Given the description of an element on the screen output the (x, y) to click on. 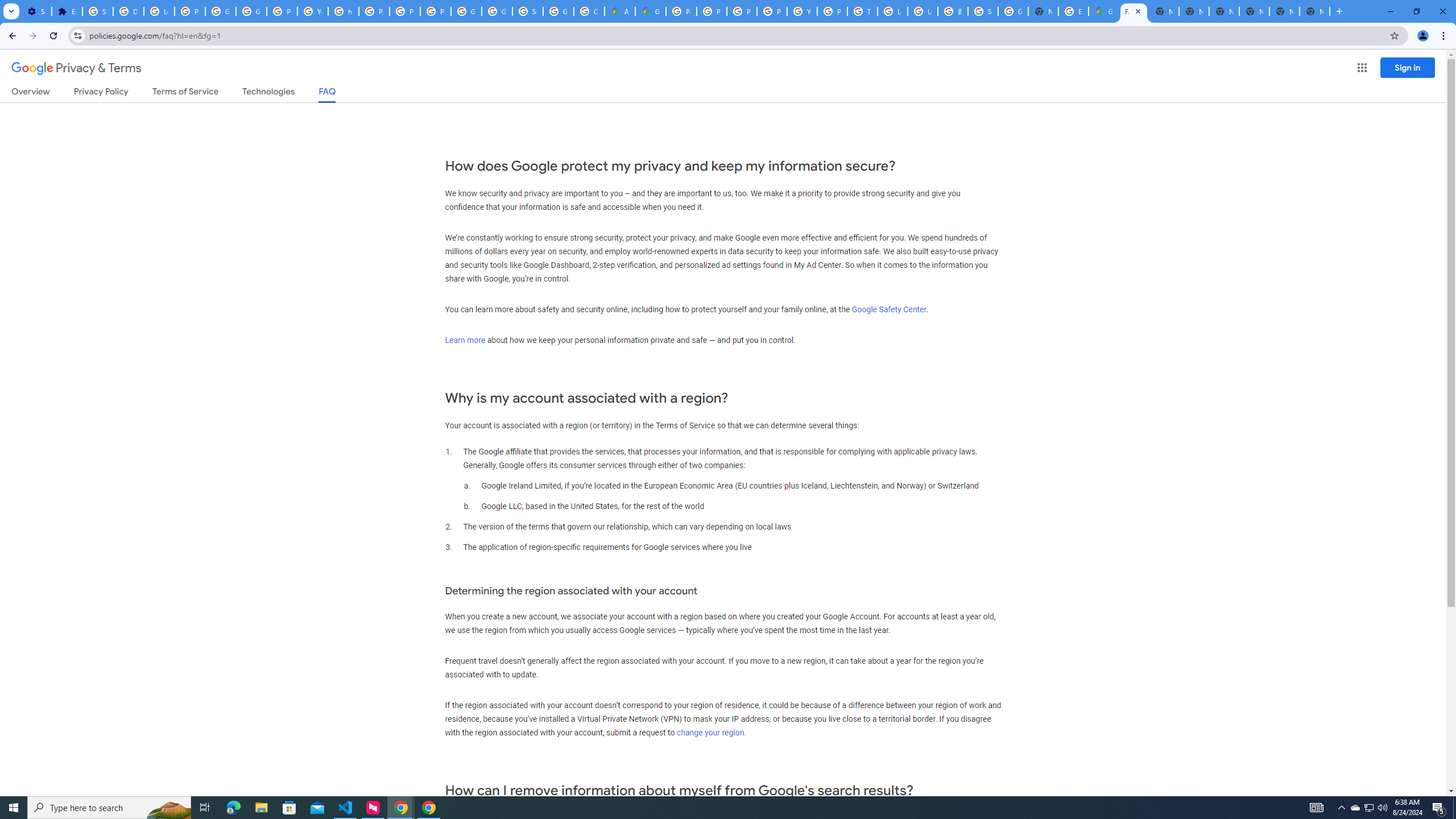
FAQ (327, 94)
change your region. (710, 732)
Sign in - Google Accounts (527, 11)
https://scholar.google.com/ (343, 11)
Google Account Help (251, 11)
Privacy Help Center - Policies Help (373, 11)
